Given the description of an element on the screen output the (x, y) to click on. 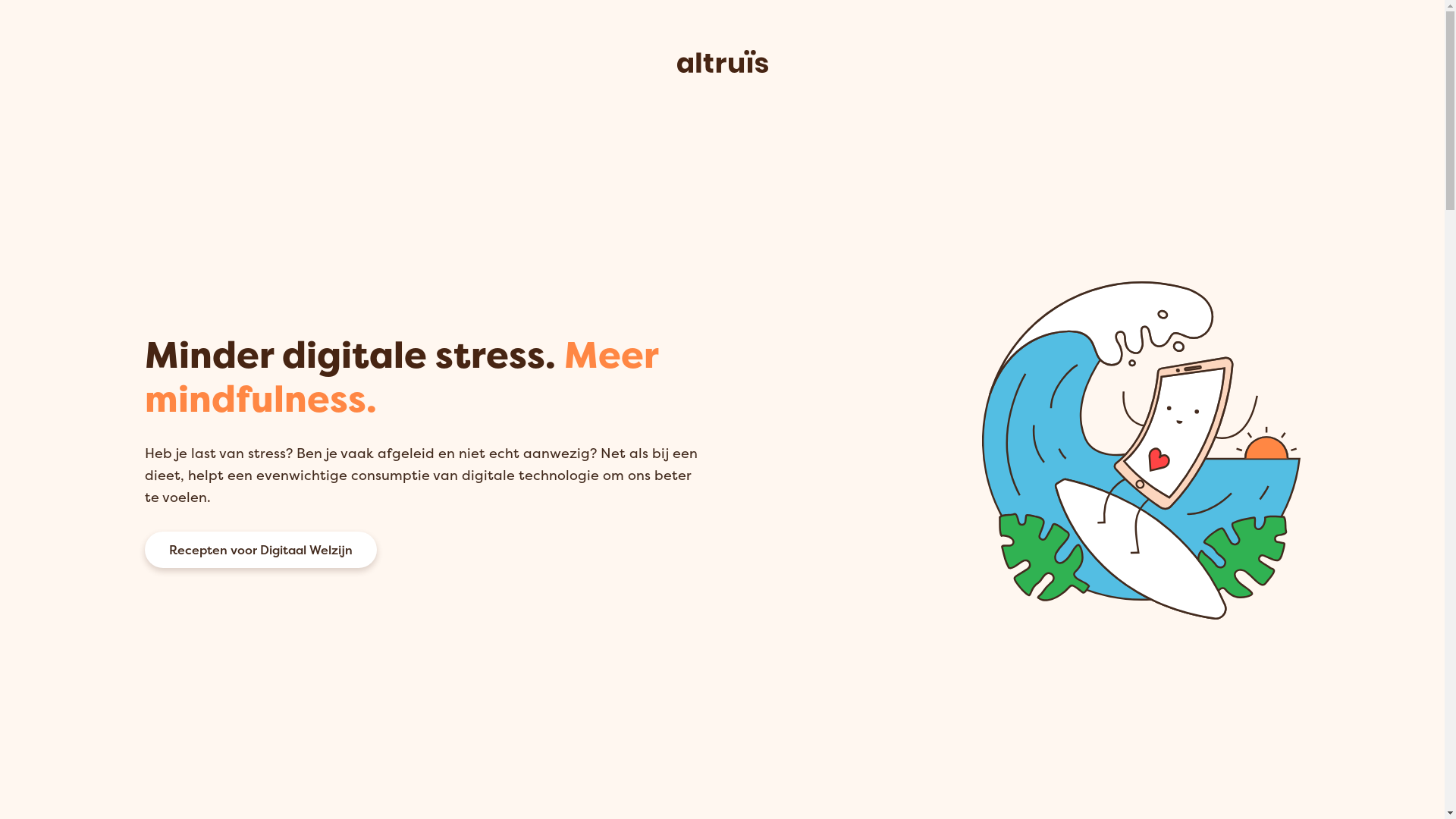
Recepten voor Digitaal Welzijn Element type: text (260, 549)
